Given the description of an element on the screen output the (x, y) to click on. 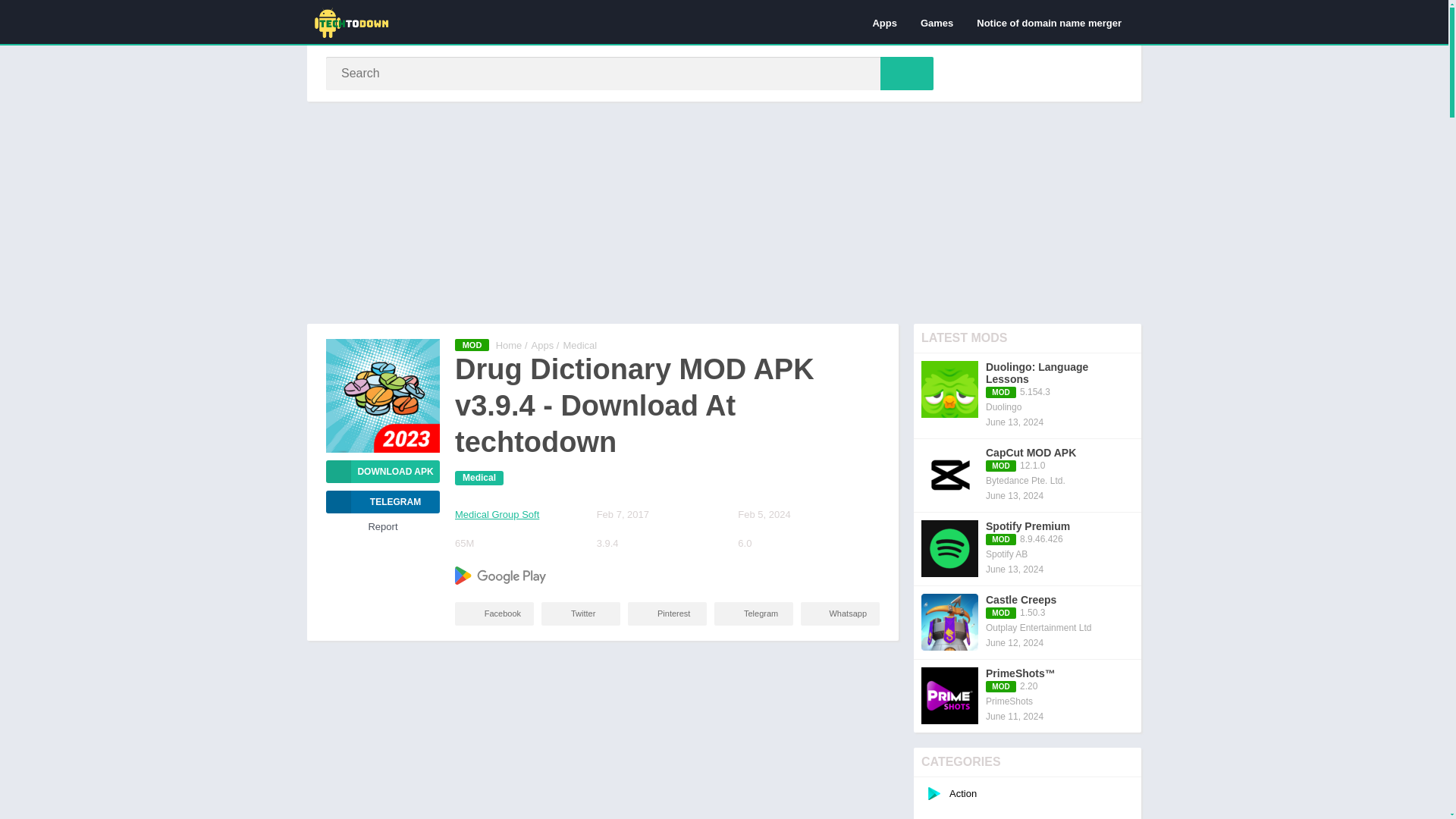
Pinterest (666, 613)
Search (906, 73)
Download APK (382, 471)
Games (935, 22)
Medical (478, 477)
techtodown.net (509, 345)
Telegram (382, 501)
Whatsapp (839, 613)
Twitter (580, 613)
Apps (542, 345)
Medical (579, 345)
Telegram (753, 613)
Home (509, 345)
Apps (884, 22)
TELEGRAM (382, 501)
